Given the description of an element on the screen output the (x, y) to click on. 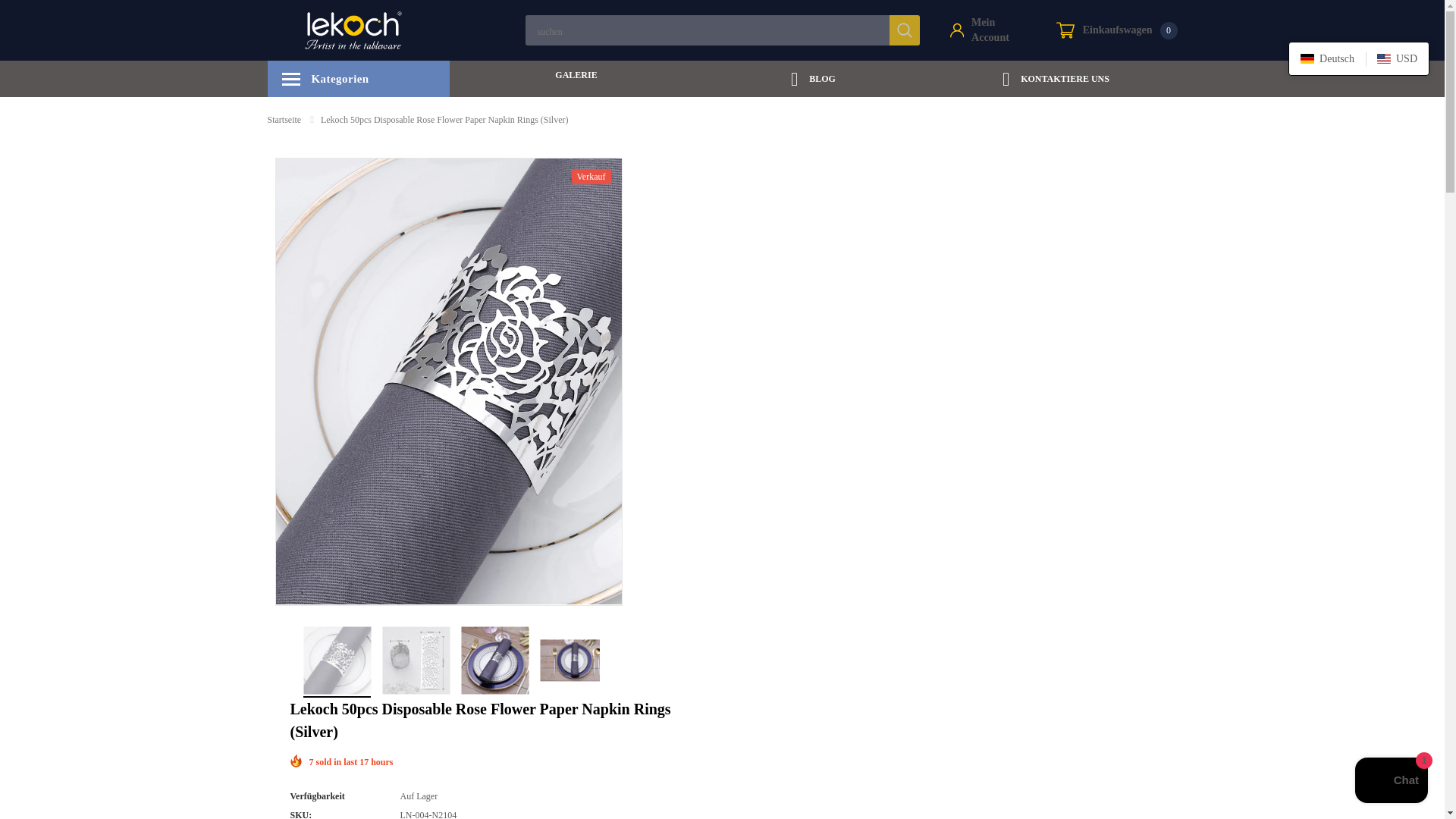
Mein Account (987, 30)
Kategorien (1116, 30)
